Given the description of an element on the screen output the (x, y) to click on. 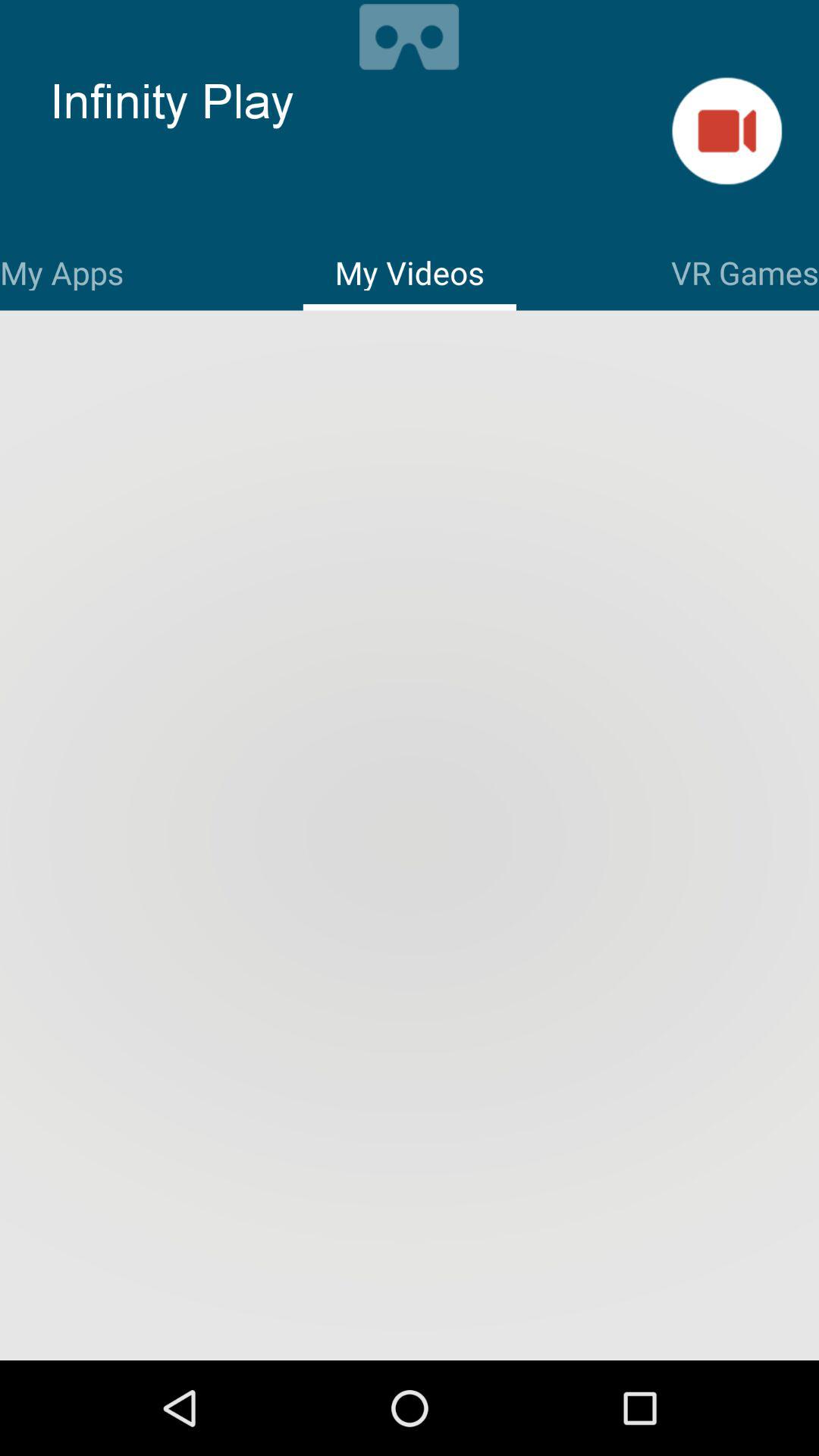
flip until vr games (745, 270)
